Given the description of an element on the screen output the (x, y) to click on. 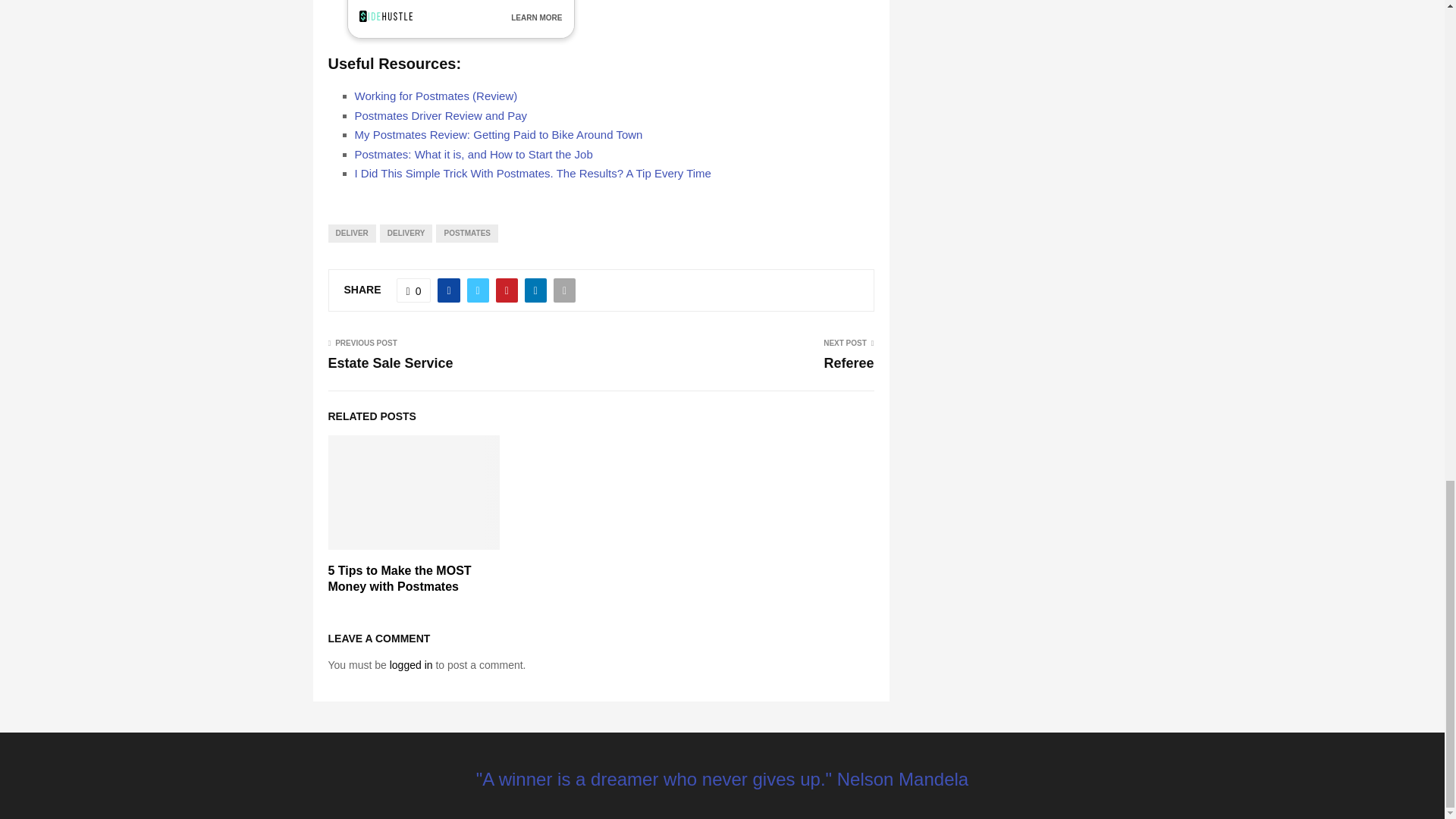
My Postmates Review: Getting Paid to Bike Around Town (499, 133)
LEARN MORE (536, 17)
Postmates: What it is, and How to Start the Job (473, 154)
POSTMATES (466, 233)
DELIVERY (406, 233)
0 (413, 290)
Postmates Driver Review and Pay (441, 115)
DELIVER (351, 233)
Like (413, 290)
